Given the description of an element on the screen output the (x, y) to click on. 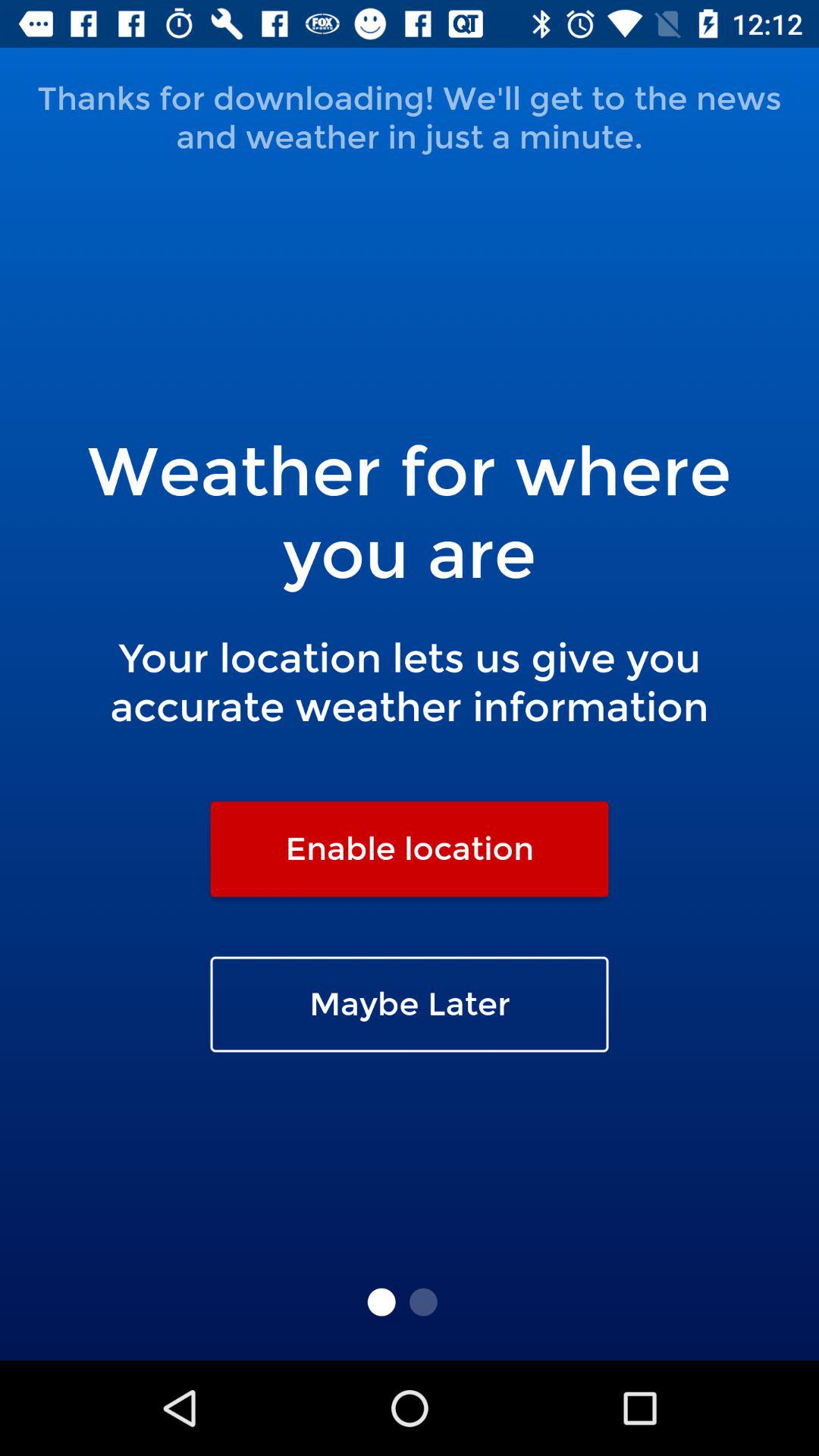
scroll to the enable location item (409, 848)
